Given the description of an element on the screen output the (x, y) to click on. 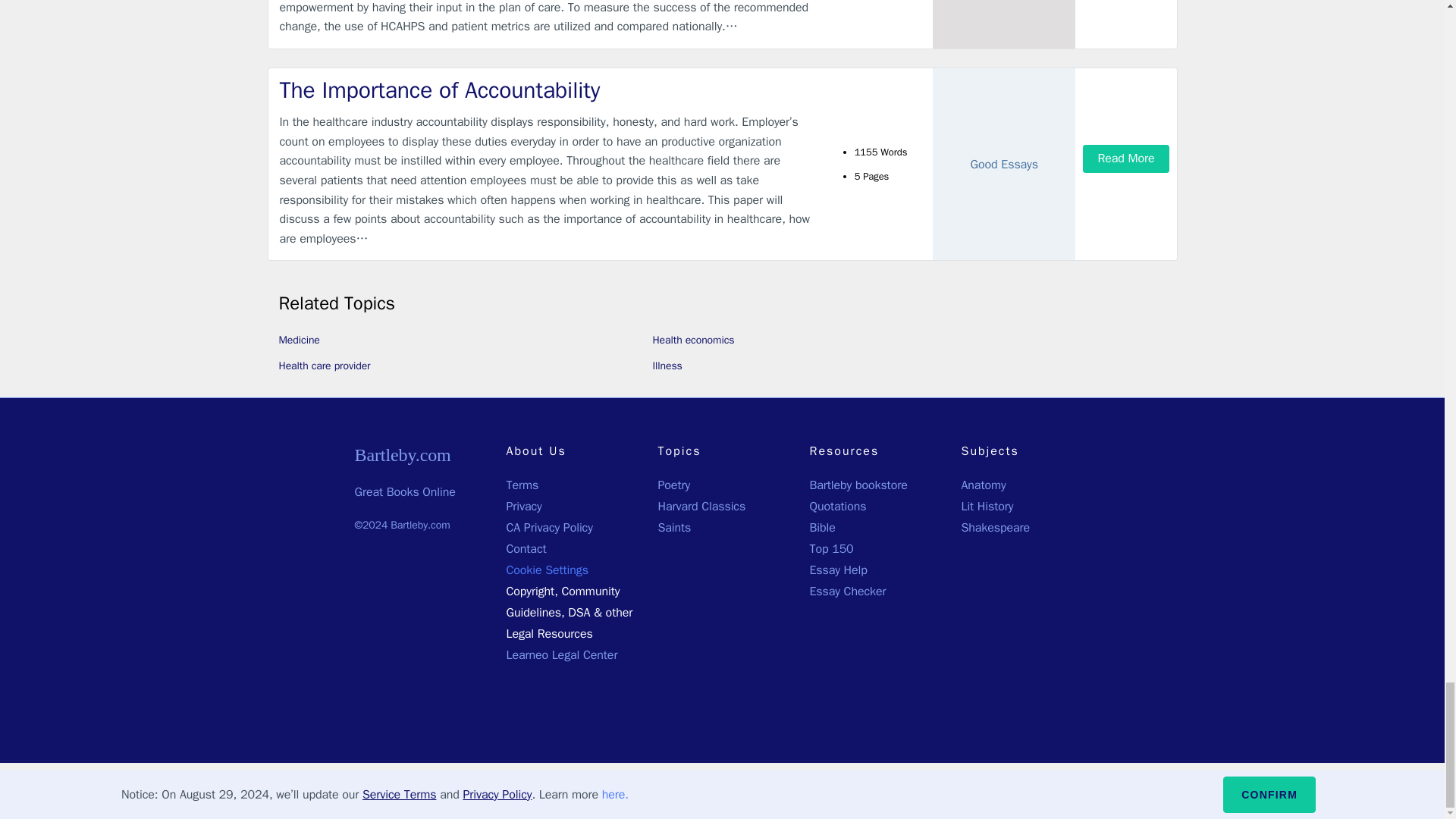
Health economics (692, 339)
Health care provider (325, 365)
Medicine (299, 339)
Illness (666, 365)
